Given the description of an element on the screen output the (x, y) to click on. 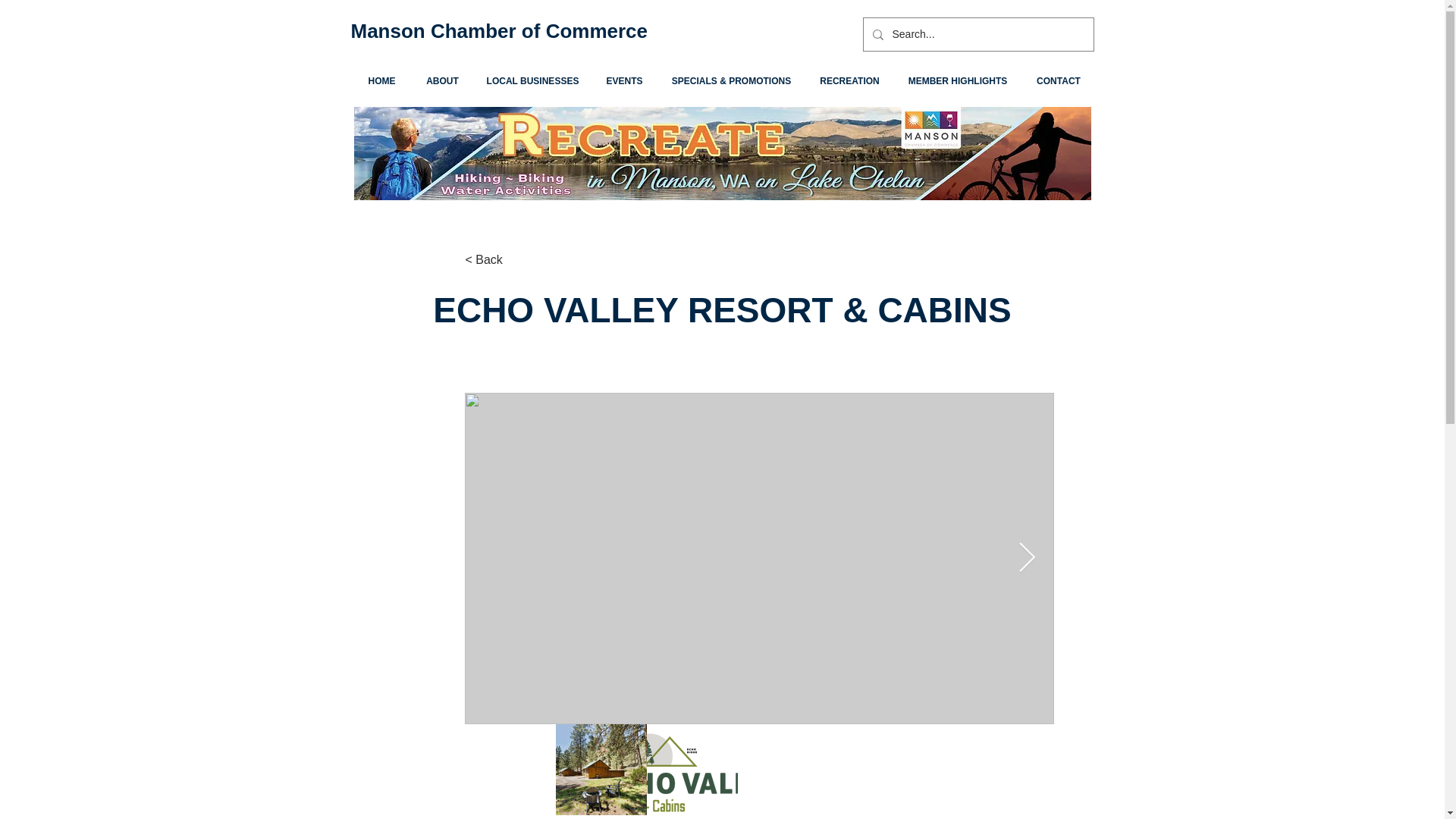
EVENTS (623, 81)
CONTACT (1059, 81)
HOME (381, 81)
MEMBER HIGHLIGHTS (957, 81)
Manson Chamber of Commerce (498, 30)
